Given the description of an element on the screen output the (x, y) to click on. 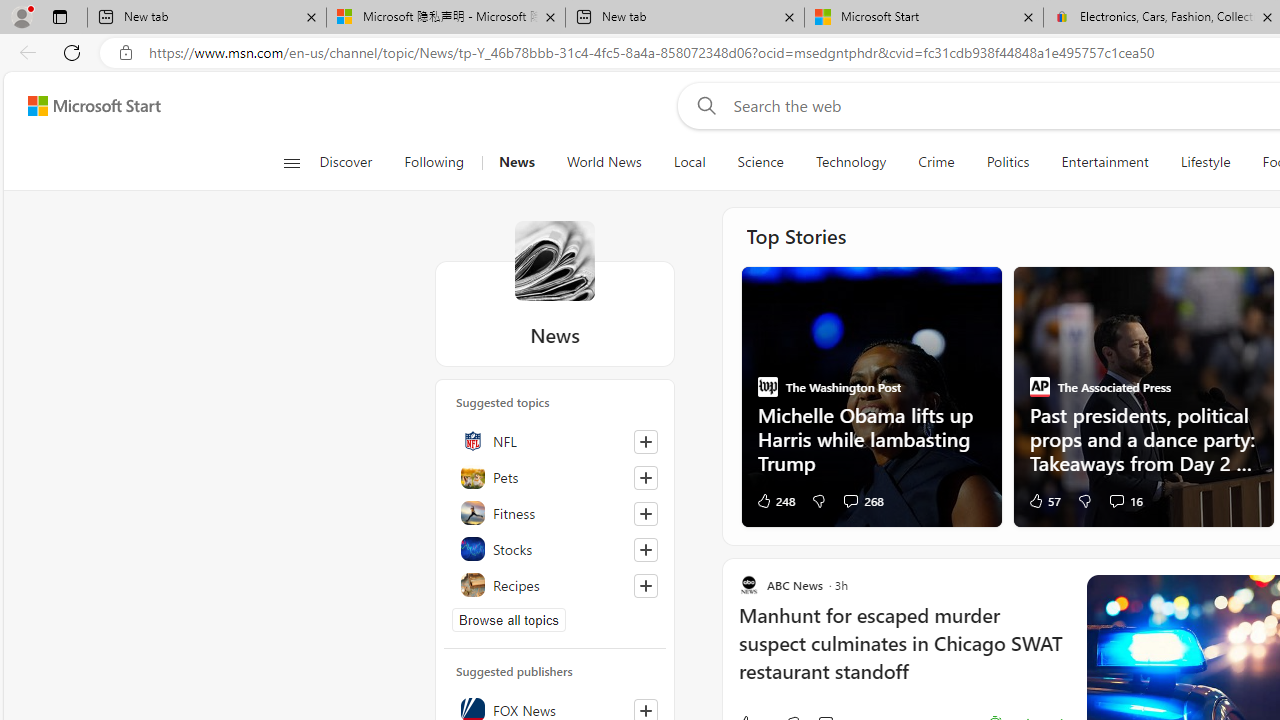
Michelle Obama lifts up Harris while lambasting Trump (870, 438)
